Given the description of an element on the screen output the (x, y) to click on. 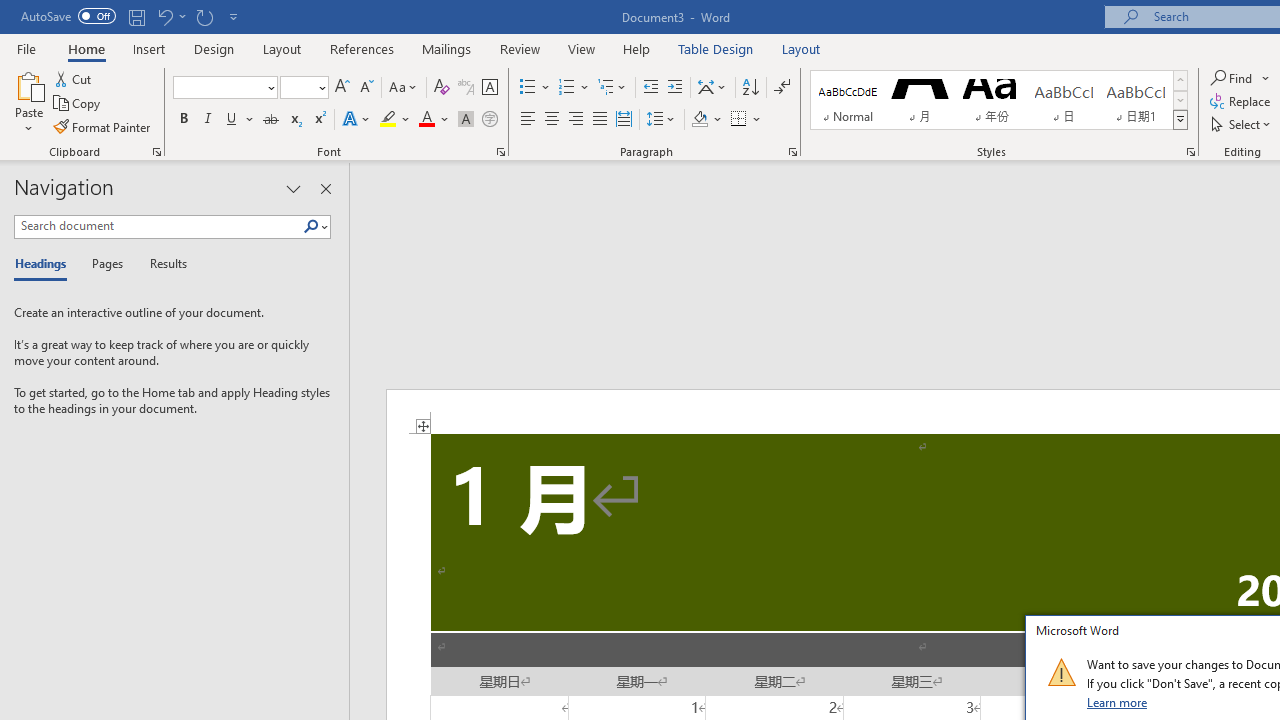
Increase Indent (675, 87)
Paragraph... (792, 151)
Clear Formatting (442, 87)
Align Left (527, 119)
Bold (183, 119)
Styles... (1190, 151)
Select (1242, 124)
Subscript (294, 119)
Enclose Characters... (489, 119)
Font Color (434, 119)
Show/Hide Editing Marks (781, 87)
